Given the description of an element on the screen output the (x, y) to click on. 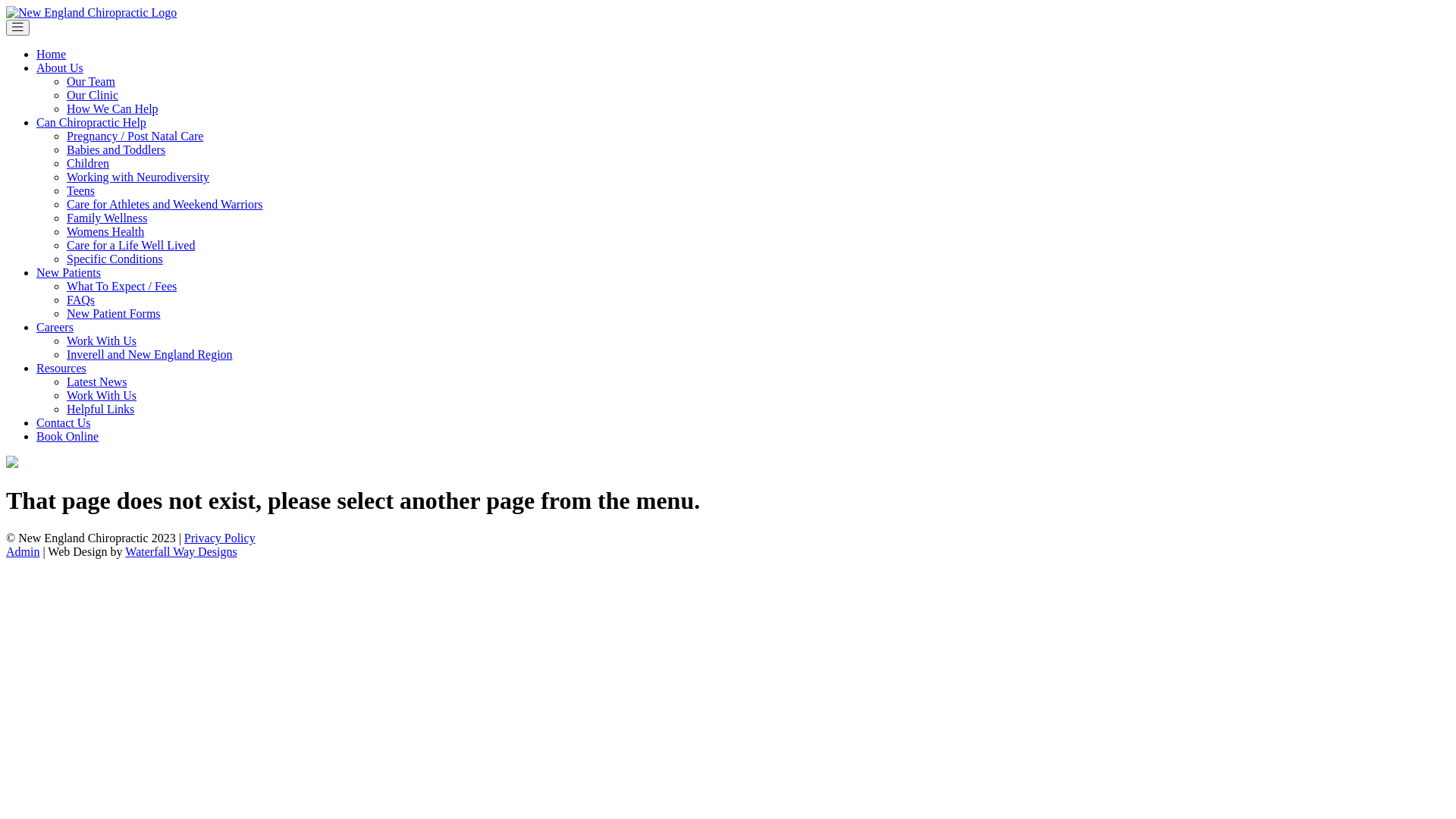
Work With Us Element type: text (101, 395)
Teens Element type: text (80, 190)
Care for Athletes and Weekend Warriors Element type: text (164, 203)
Work With Us Element type: text (101, 340)
Admin Element type: text (22, 551)
Babies and Toddlers Element type: text (115, 149)
How We Can Help Element type: text (112, 108)
Family Wellness Element type: text (106, 217)
About Us Element type: text (59, 67)
Contact Us Element type: text (63, 422)
Waterfall Way Designs Element type: text (180, 551)
What To Expect / Fees Element type: text (121, 285)
Latest News Element type: text (96, 381)
FAQs Element type: text (80, 299)
Inverell and New England Region Element type: text (149, 354)
Specific Conditions Element type: text (114, 258)
Children Element type: text (87, 162)
Our Team Element type: text (90, 81)
Womens Health Element type: text (105, 231)
New Patients Element type: text (68, 272)
Resources Element type: text (61, 367)
Can Chiropractic Help Element type: text (91, 122)
Our Clinic Element type: text (92, 94)
Helpful Links Element type: text (100, 408)
New Patient Forms Element type: text (113, 313)
Working with Neurodiversity Element type: text (137, 176)
Care for a Life Well Lived Element type: text (130, 244)
Book Online Element type: text (67, 435)
Pregnancy / Post Natal Care Element type: text (134, 135)
Privacy Policy Element type: text (219, 537)
Careers Element type: text (54, 326)
Home Element type: text (50, 53)
